Given the description of an element on the screen output the (x, y) to click on. 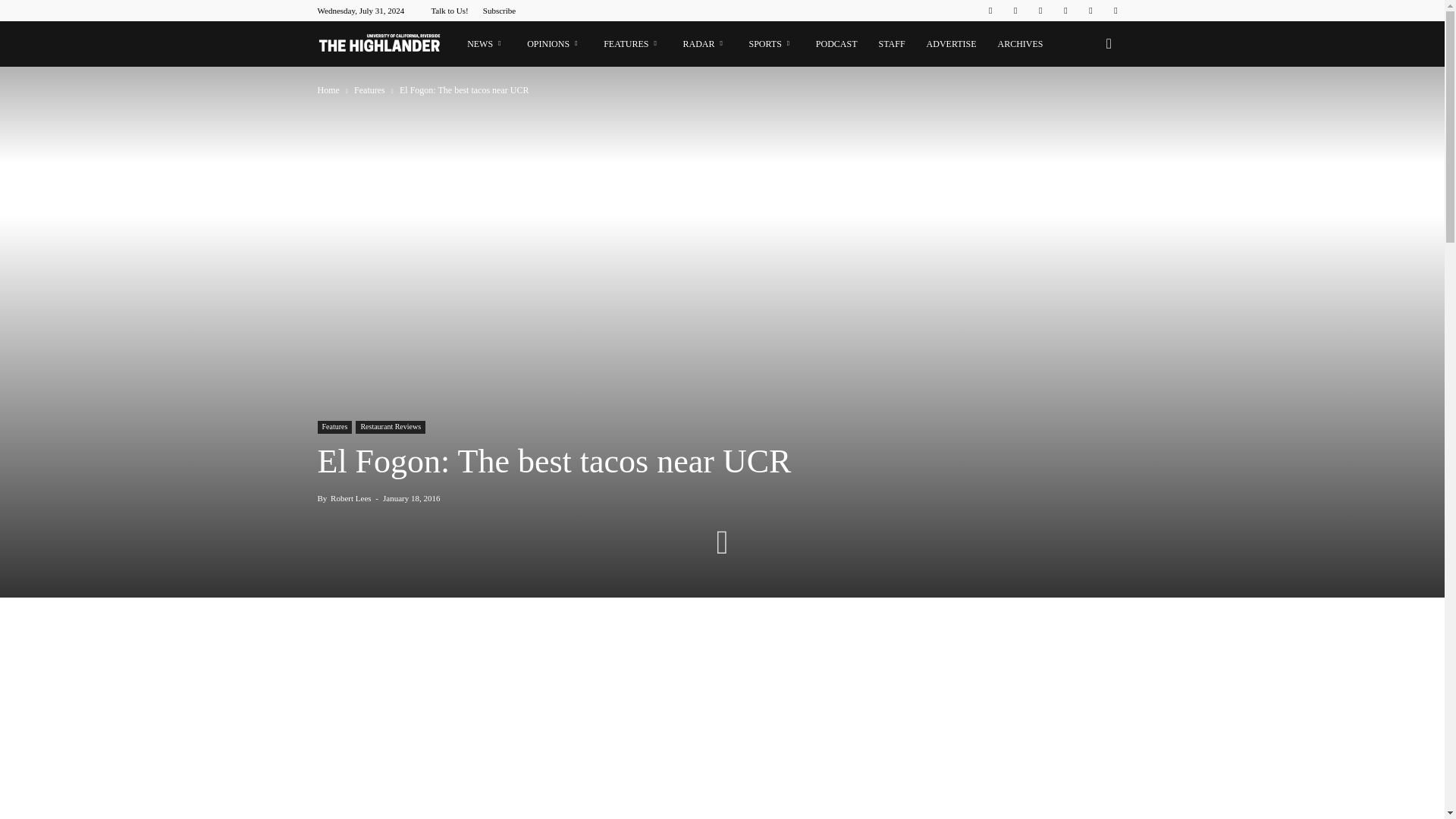
Youtube (1114, 10)
Instagram (1015, 10)
Talk to Us! (448, 10)
Twitter (1090, 10)
Facebook (989, 10)
Spotify (1065, 10)
Linkedin (1040, 10)
View all posts in Features (370, 90)
